Given the description of an element on the screen output the (x, y) to click on. 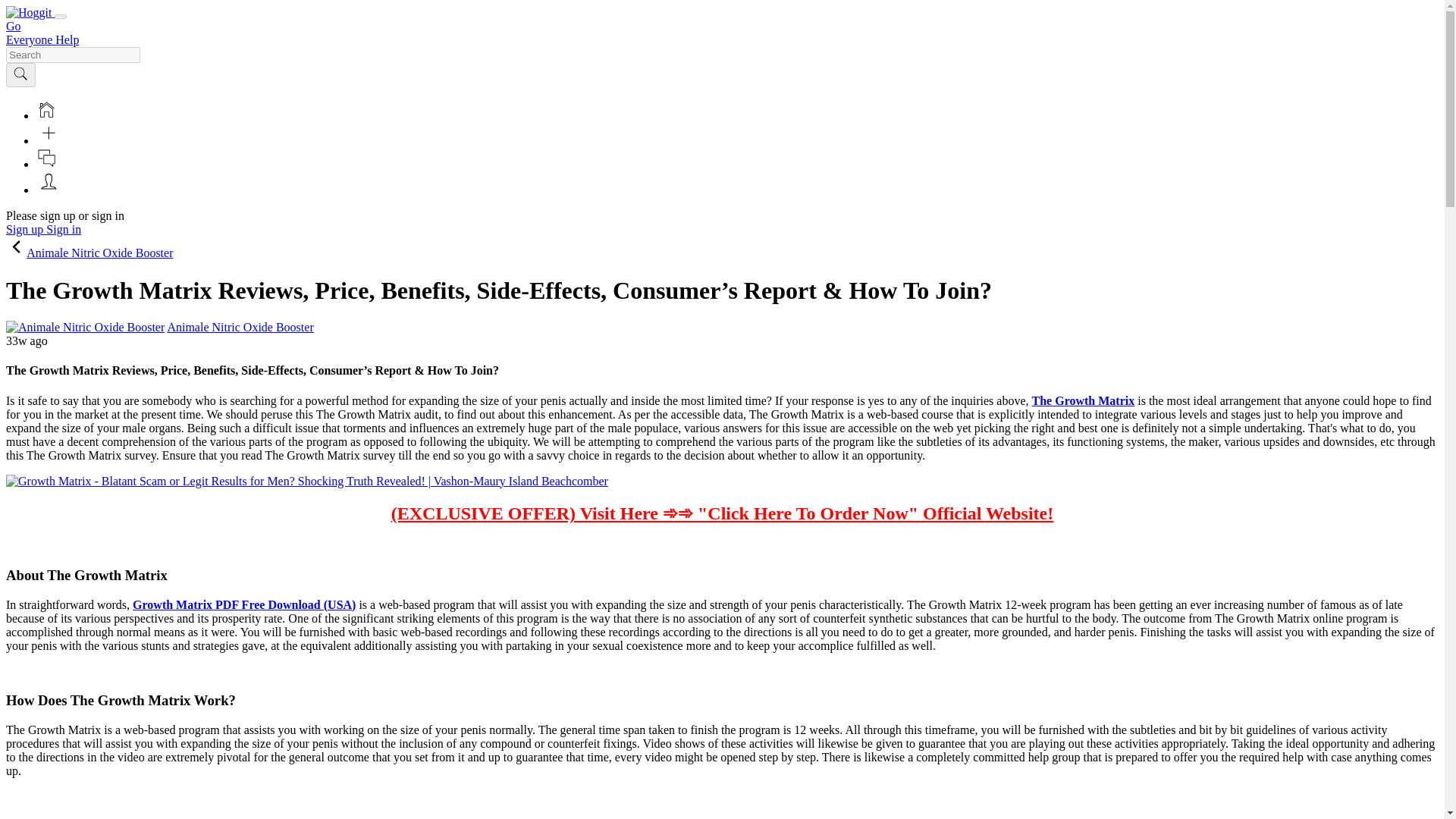
Add (48, 132)
Search (19, 74)
Animale Nitric Oxide Booster (240, 327)
Hoggit home page (27, 12)
Everyone (30, 39)
Back (15, 246)
The Growth Matrix (1083, 400)
Sign in (63, 228)
Home (46, 109)
My Hoggit (48, 189)
Go (13, 25)
Search (20, 73)
Animale Nitric Oxide Booster (84, 327)
Add (48, 140)
Help (66, 39)
